Given the description of an element on the screen output the (x, y) to click on. 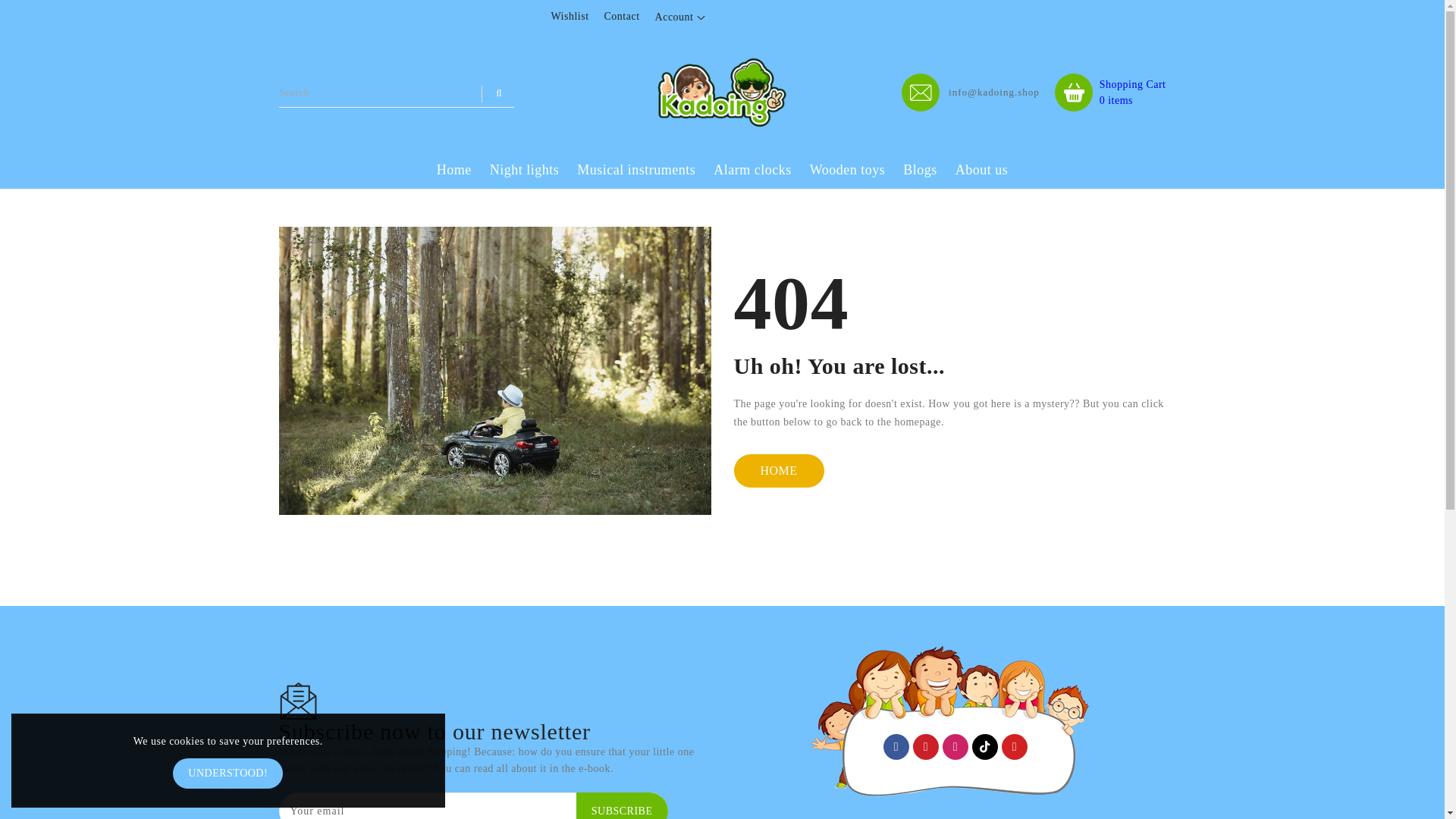
Musical instruments (636, 169)
Wooden toys (847, 169)
Wishlist (569, 16)
Home (454, 169)
Contact (622, 16)
Alarm clocks (751, 169)
SKIP TO CONTENT (14, 7)
Blogs (919, 169)
Night lights (524, 169)
HOME (778, 470)
Account (1110, 91)
About us (679, 17)
SUBSCRIBE (981, 169)
